Given the description of an element on the screen output the (x, y) to click on. 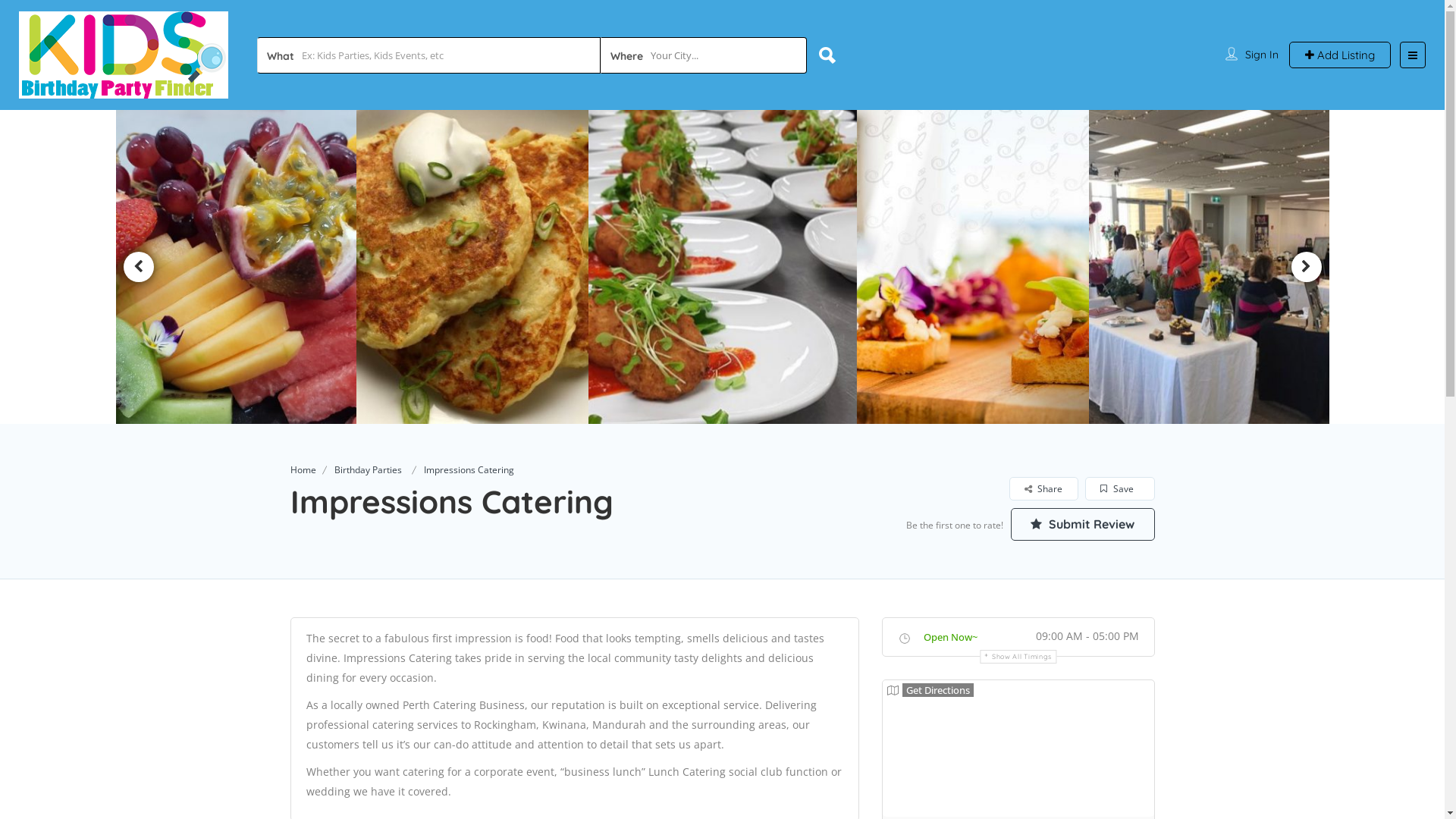
Birthday Parties Element type: text (367, 469)
Save Element type: text (1119, 488)
Sign In Element type: text (1261, 53)
Your City... Element type: text (703, 54)
Claim your business now! Element type: text (583, 569)
Home Element type: text (302, 469)
Submit Element type: text (414, 502)
Open Now~ Element type: text (950, 636)
Next Element type: text (1305, 266)
Get Directions Element type: text (930, 689)
Previous Element type: text (137, 266)
Show All Timings Element type: text (1017, 656)
Submit Review Element type: text (1082, 524)
Add Listing Element type: text (1339, 53)
Share Element type: text (1042, 488)
